Given the description of an element on the screen output the (x, y) to click on. 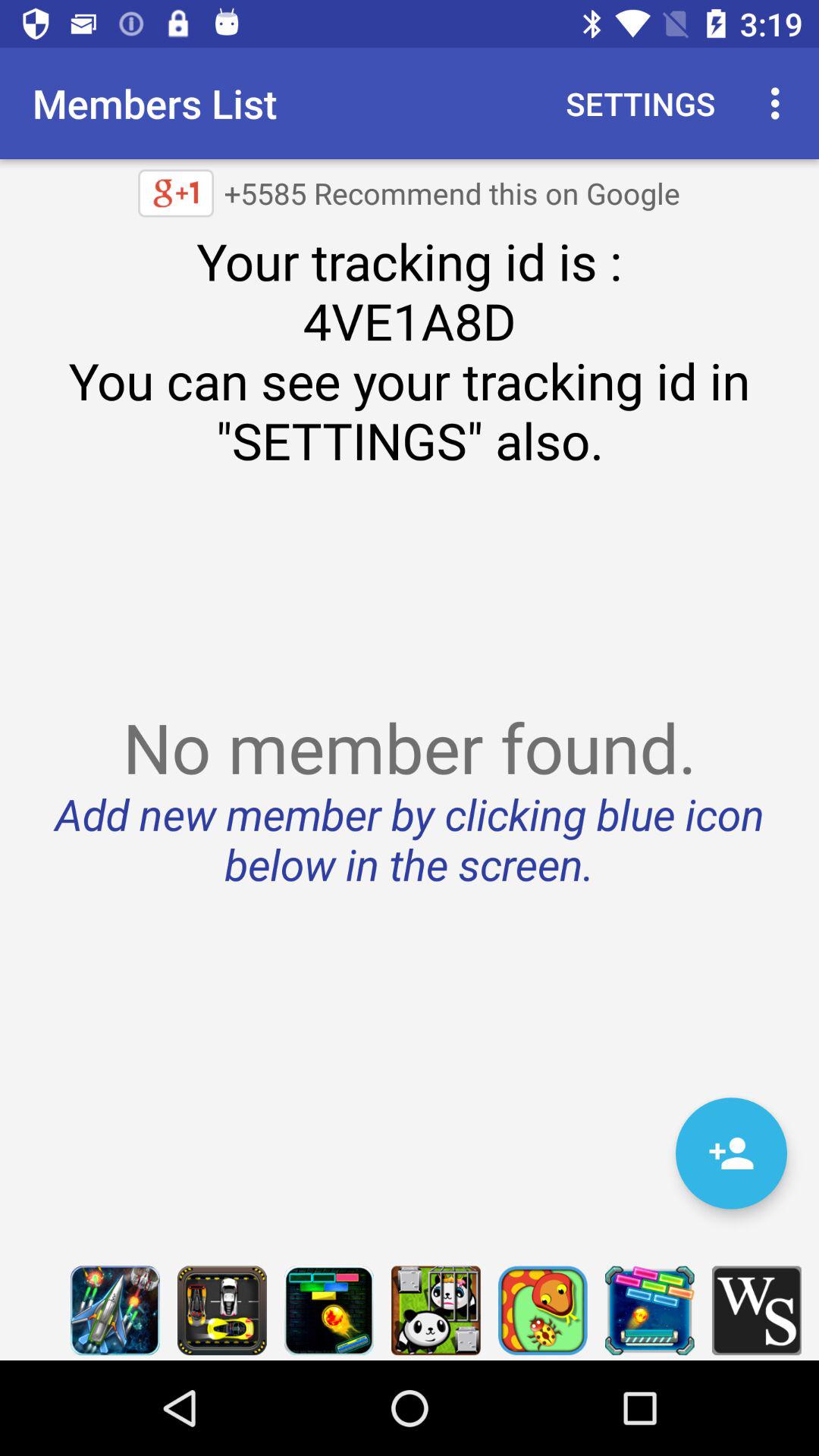
launch game (328, 1310)
